Given the description of an element on the screen output the (x, y) to click on. 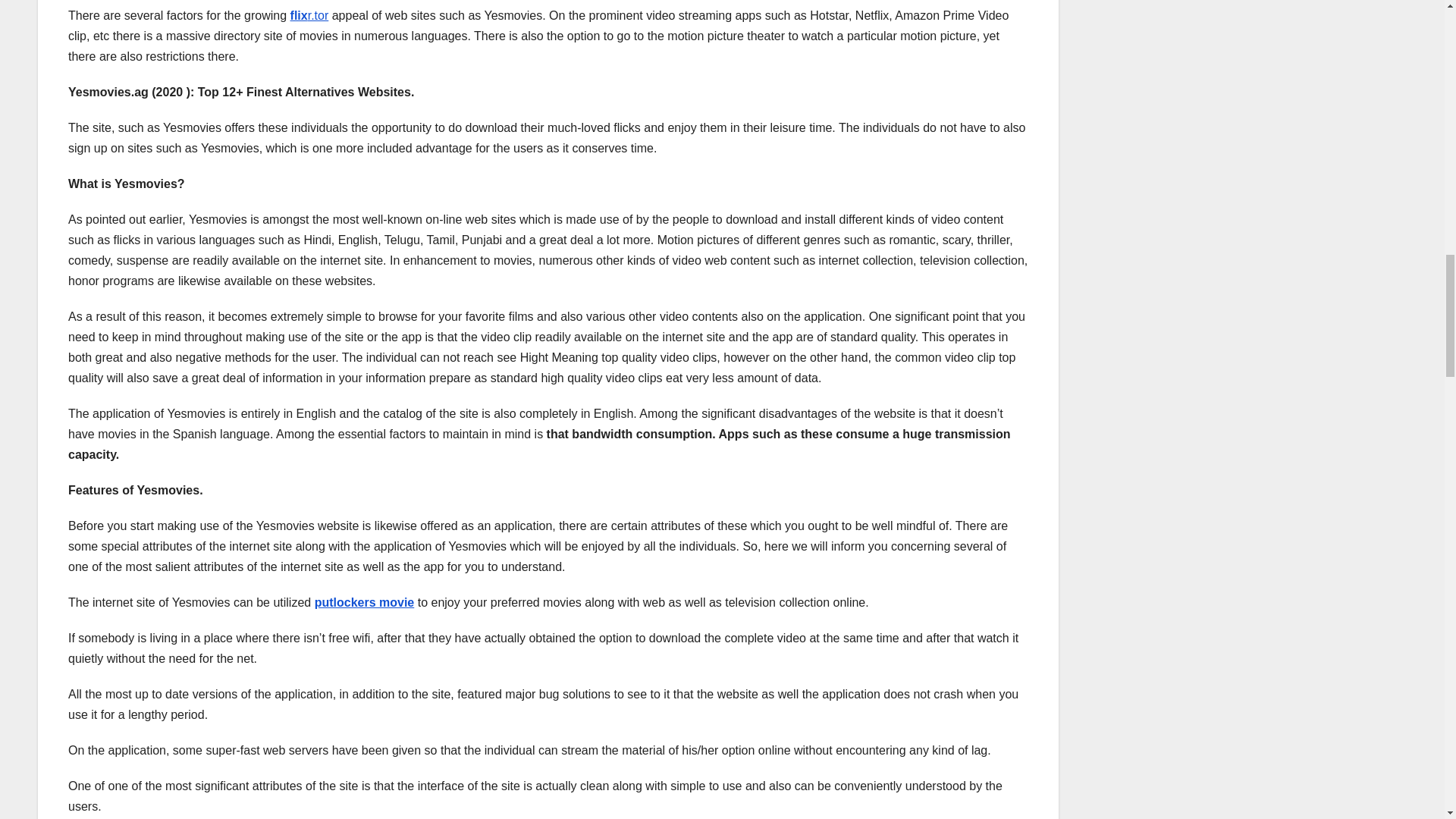
putlockers movie (364, 602)
flix (298, 15)
r.tor (318, 15)
